Given the description of an element on the screen output the (x, y) to click on. 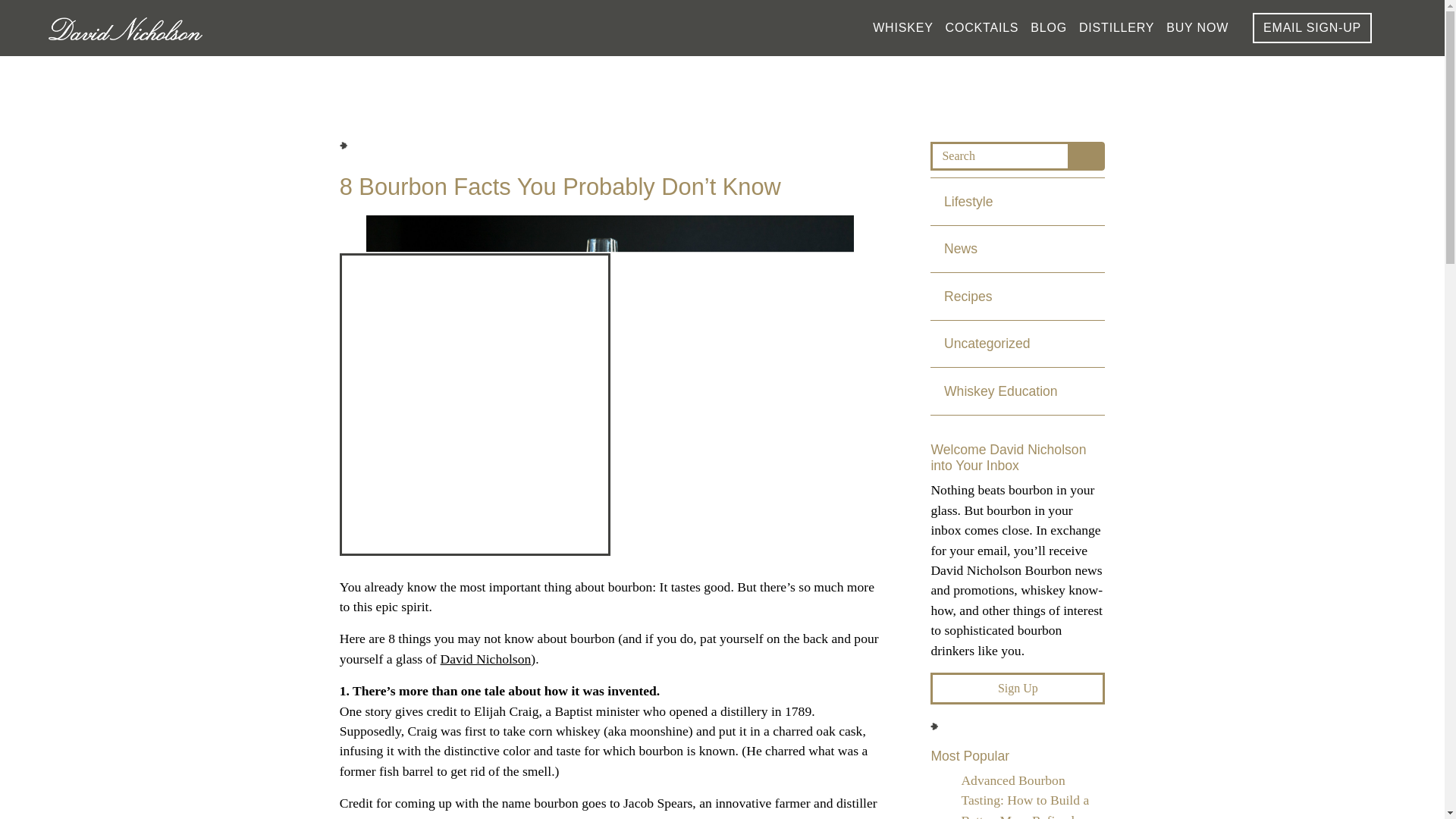
BUY NOW (1197, 27)
DISTILLERY (1116, 27)
Recipes (1017, 295)
BLOG (1048, 27)
David Nicholson (486, 658)
GO (1087, 155)
Uncategorized (1017, 343)
COCKTAILS (981, 27)
EMAIL SIGN-UP (1311, 28)
News (1017, 248)
